Given the description of an element on the screen output the (x, y) to click on. 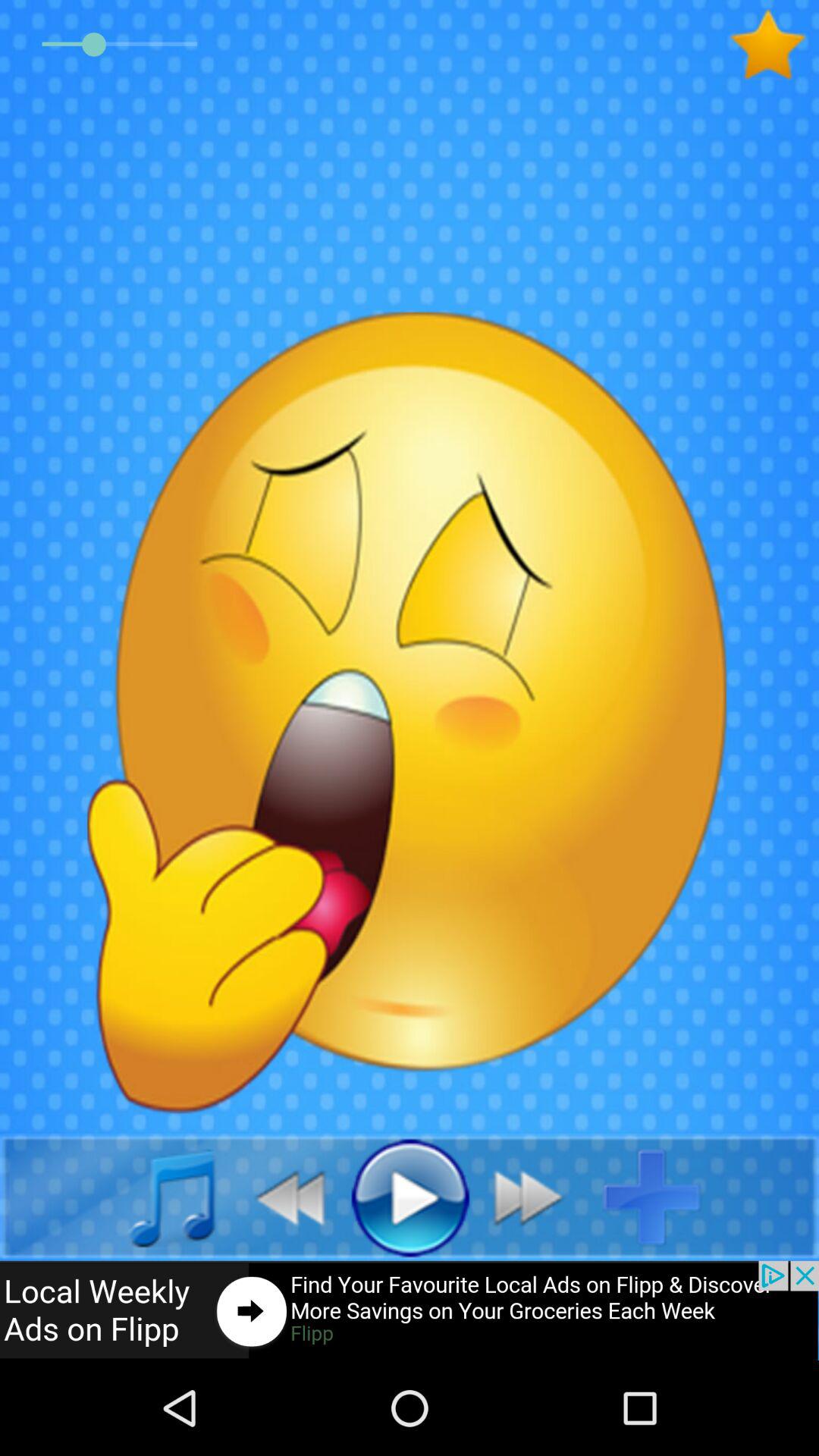
go to music icon (154, 1196)
